Given the description of an element on the screen output the (x, y) to click on. 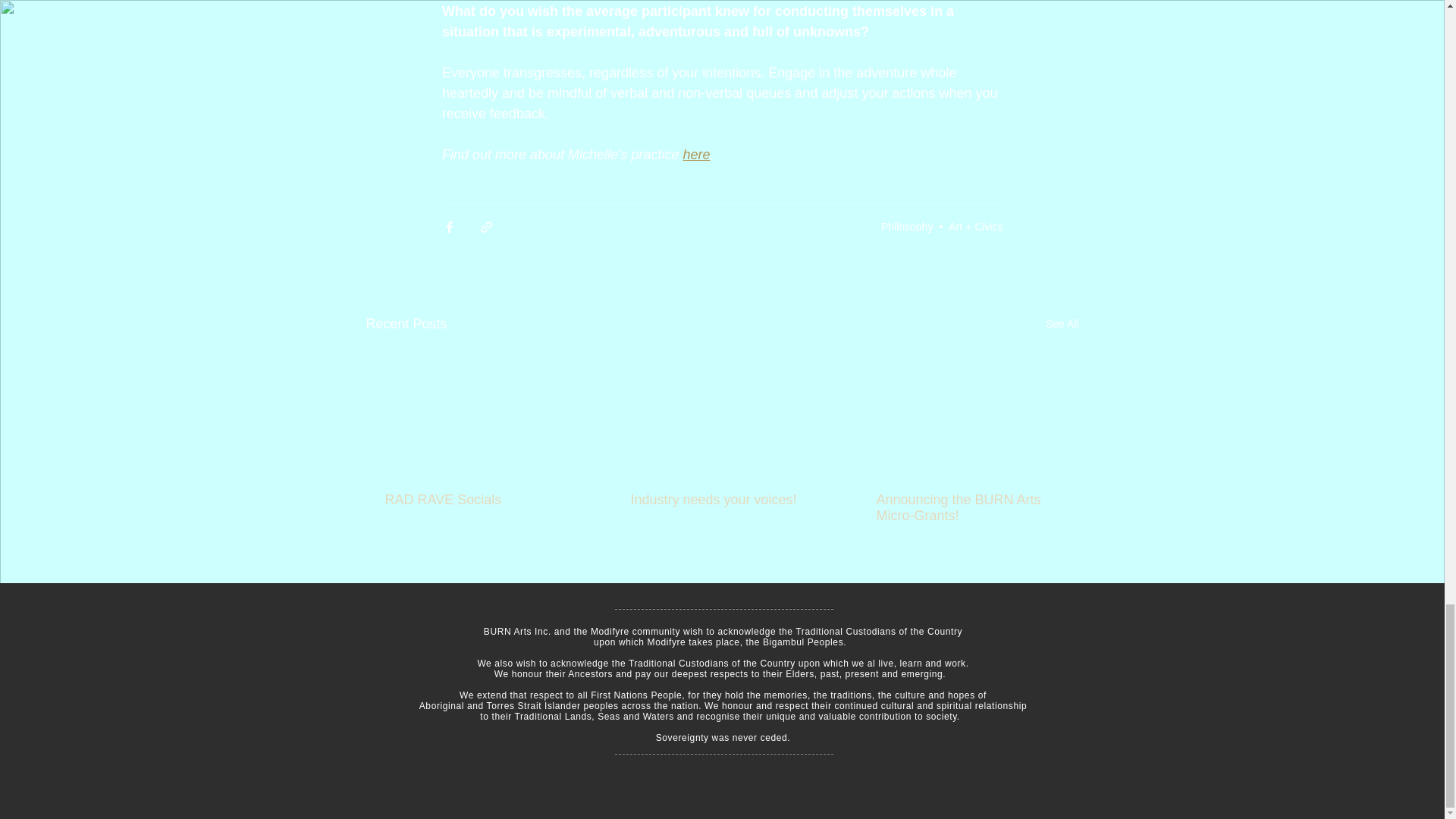
RAD RAVE Socials (476, 499)
Philosophy (906, 226)
here (696, 154)
See All (1061, 323)
